Given the description of an element on the screen output the (x, y) to click on. 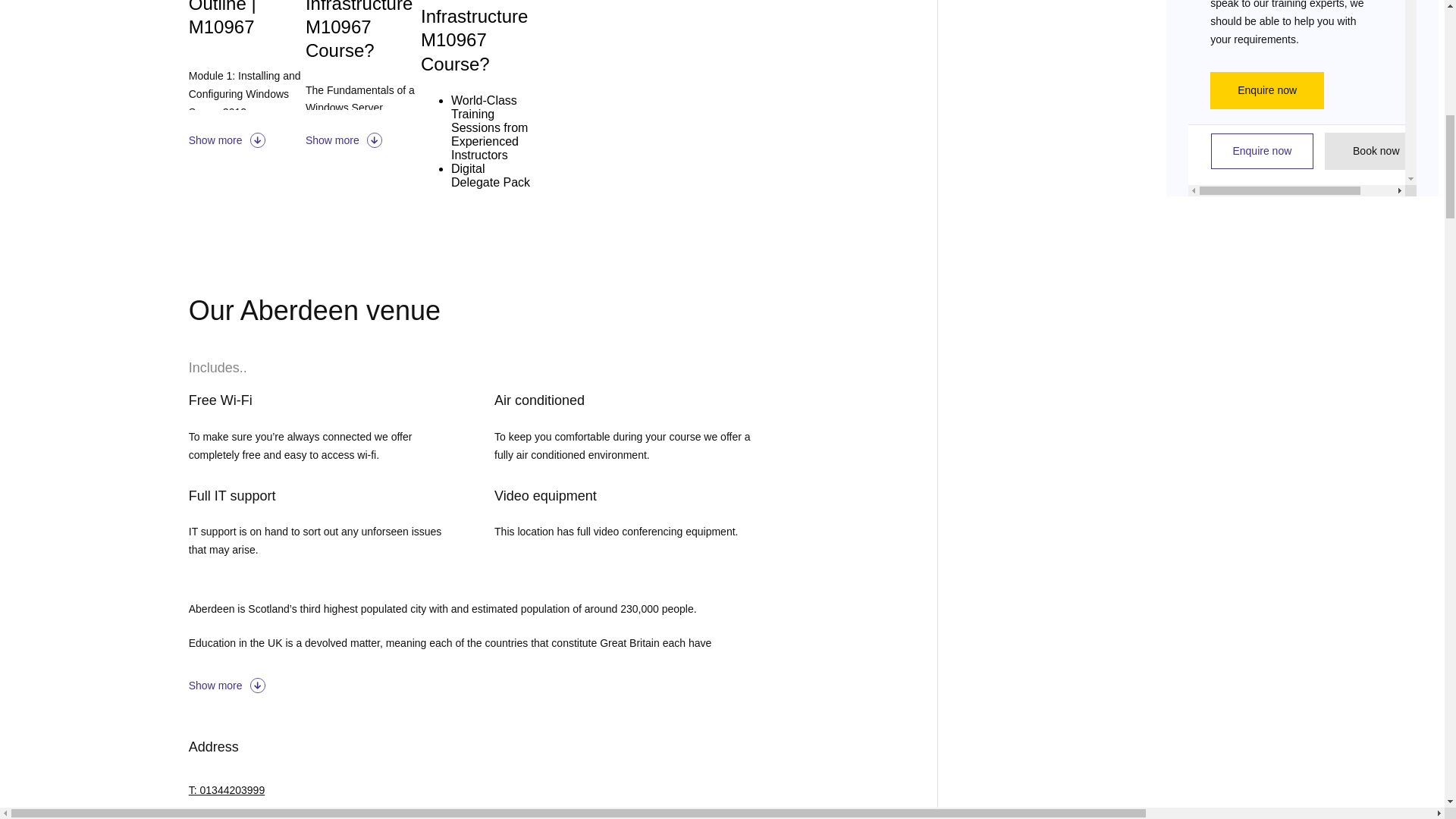
Show more (472, 685)
Show more (247, 140)
Show more (362, 140)
